Given the description of an element on the screen output the (x, y) to click on. 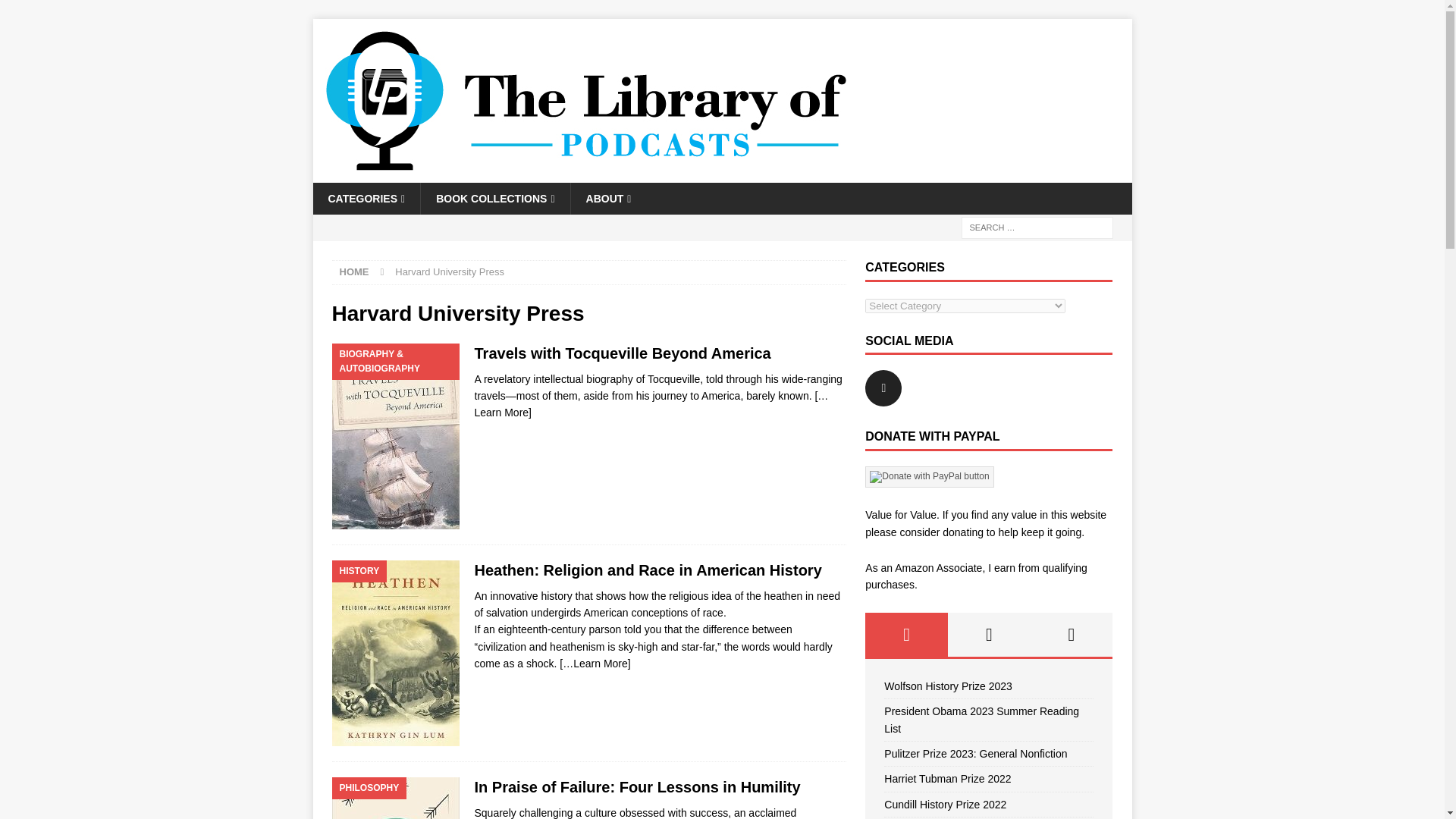
Heathen: Religion and Race in American History (594, 663)
Travels with Tocqueville Beyond America (622, 352)
The Library of Podcasts (586, 174)
Travels with Tocqueville Beyond America (651, 403)
Heathen: Religion and Race in American History (648, 569)
In Praise of Failure: Four Lessons in Humility (637, 786)
